Given the description of an element on the screen output the (x, y) to click on. 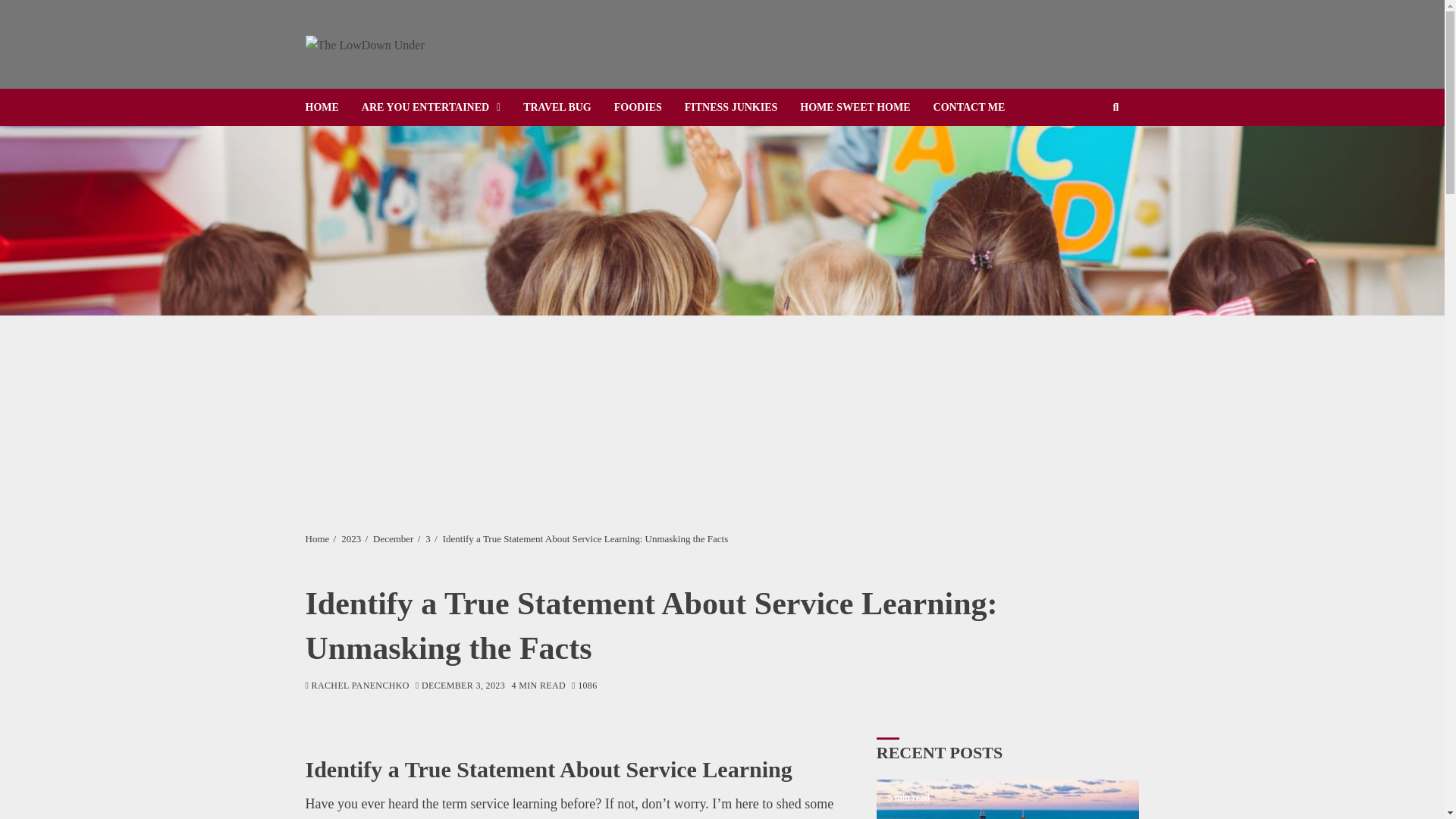
TRAVEL BUG (568, 107)
FOODIES (649, 107)
RACHEL PANENCHKO (356, 685)
1086 (584, 685)
HOME SWEET HOME (866, 107)
HOME (332, 107)
FITNESS JUNKIES (742, 107)
Search (1092, 152)
2023 (350, 539)
Home (316, 539)
ARE YOU ENTERTAINED (441, 107)
CONTACT ME (980, 107)
December (392, 539)
